Given the description of an element on the screen output the (x, y) to click on. 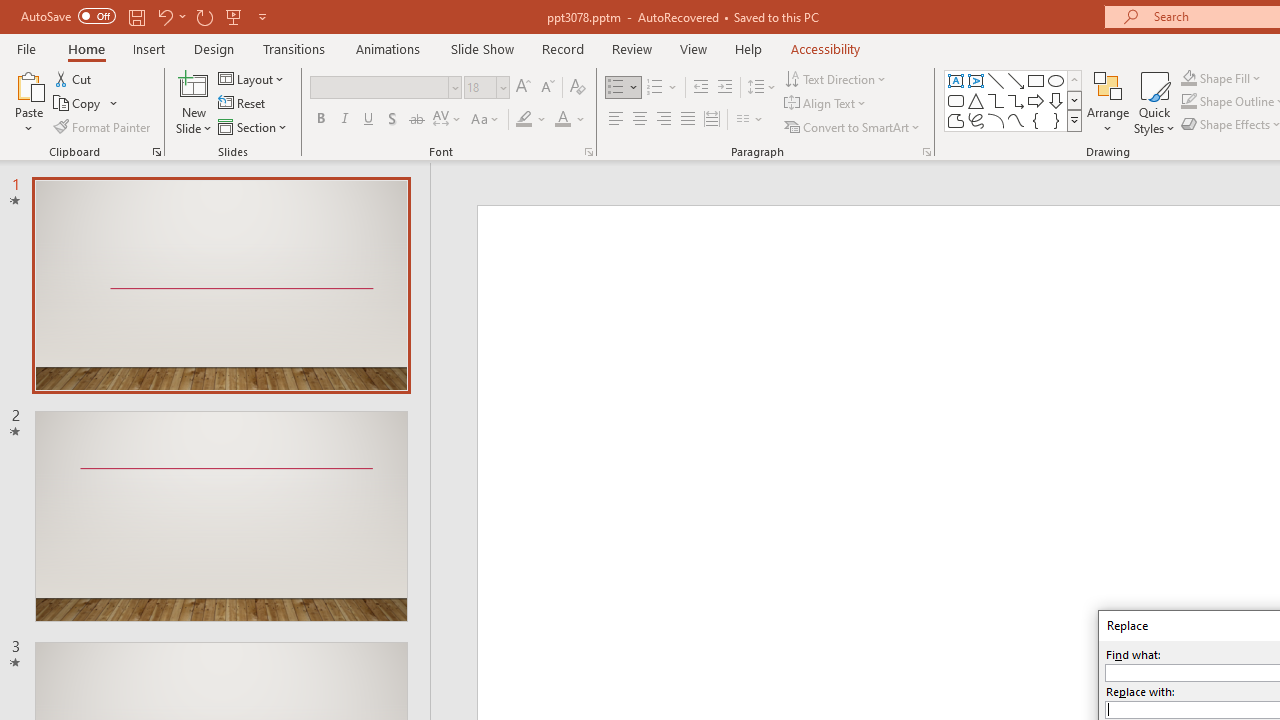
Oval (1055, 80)
Line (995, 80)
Font Size (480, 87)
Row up (1074, 79)
Freeform: Shape (955, 120)
Numbering (654, 87)
Quick Styles (1154, 102)
Increase Font Size (522, 87)
Left Brace (1035, 120)
Layout (252, 78)
Columns (750, 119)
